Given the description of an element on the screen output the (x, y) to click on. 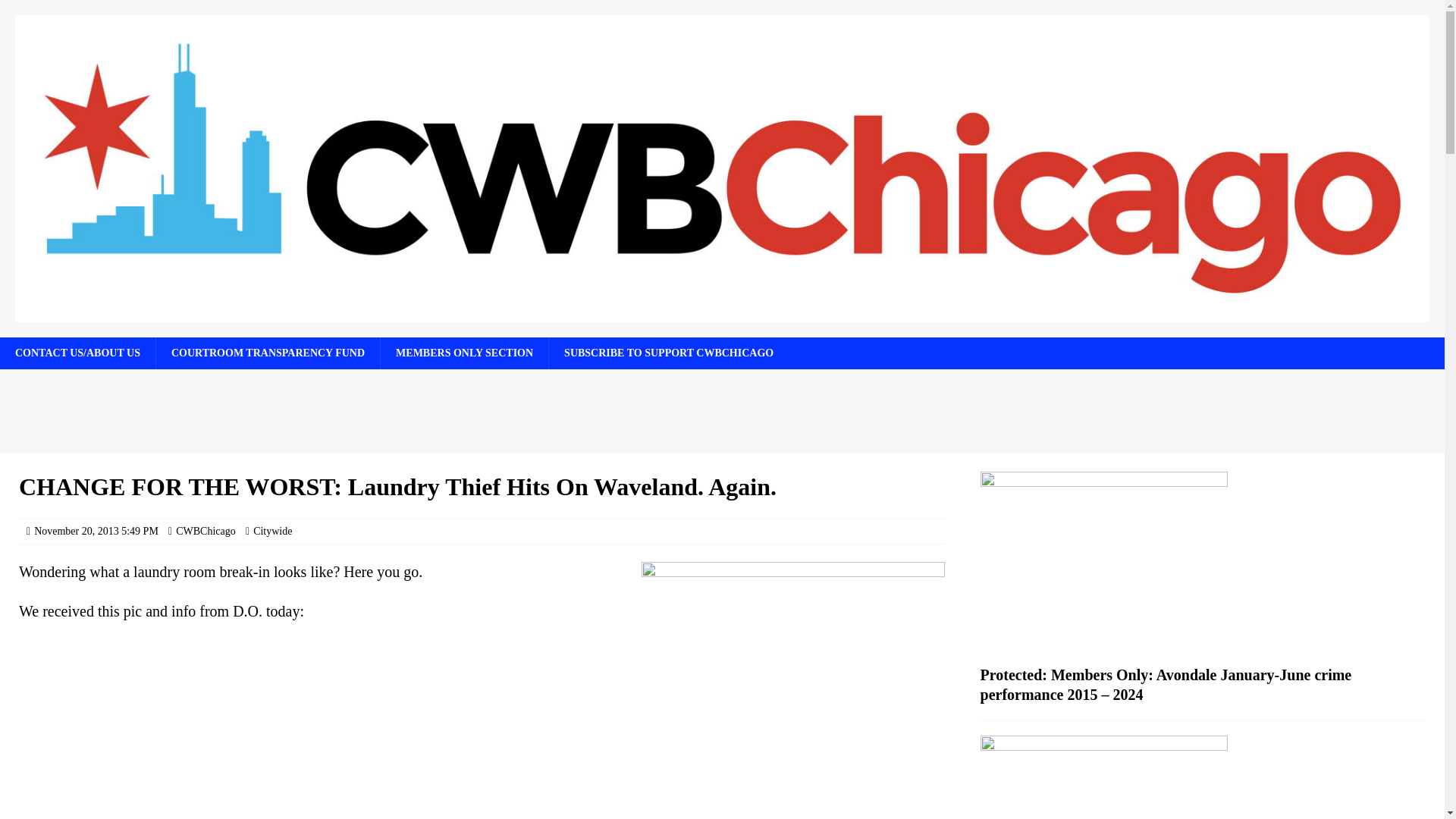
Citywide (272, 531)
MEMBERS ONLY SECTION (464, 353)
November 20, 2013 5:49 PM (95, 531)
COURTROOM TRANSPARENCY FUND (267, 353)
CWBChicago (205, 531)
SUBSCRIBE TO SUPPORT CWBCHICAGO (668, 353)
